Given the description of an element on the screen output the (x, y) to click on. 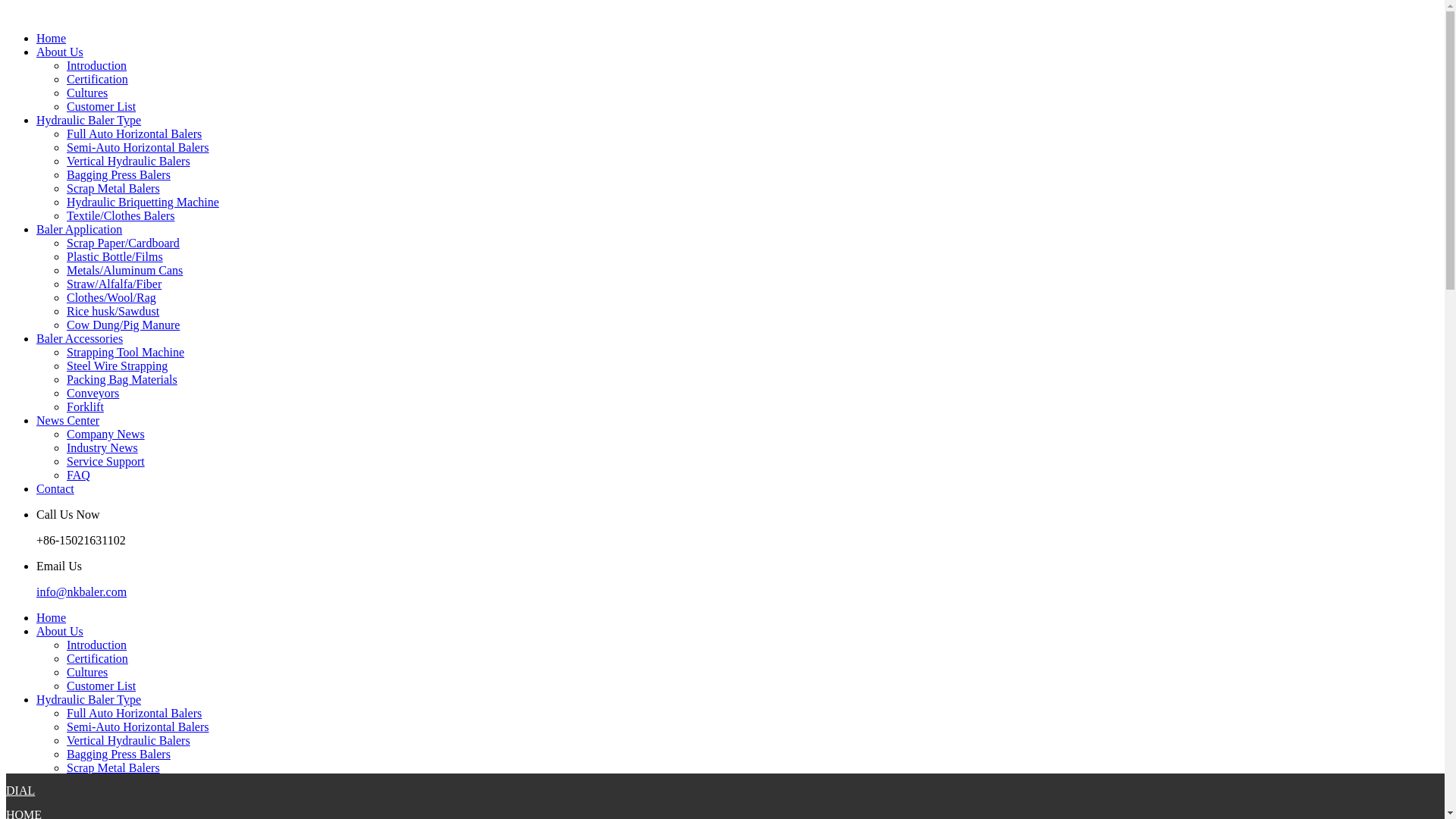
About Us (59, 51)
Baler Application (79, 228)
FAQ (78, 474)
Cultures (86, 92)
Customer List (100, 106)
Introduction (96, 644)
Certification (97, 78)
Forklift (84, 406)
Hydraulic Briquetting Machine (142, 201)
Steel Wire Strapping (116, 365)
Hydraulic Baler Type (88, 119)
Company News (105, 433)
Semi-Auto Horizontal Balers (137, 146)
Home (50, 38)
Conveyors (92, 392)
